Given the description of an element on the screen output the (x, y) to click on. 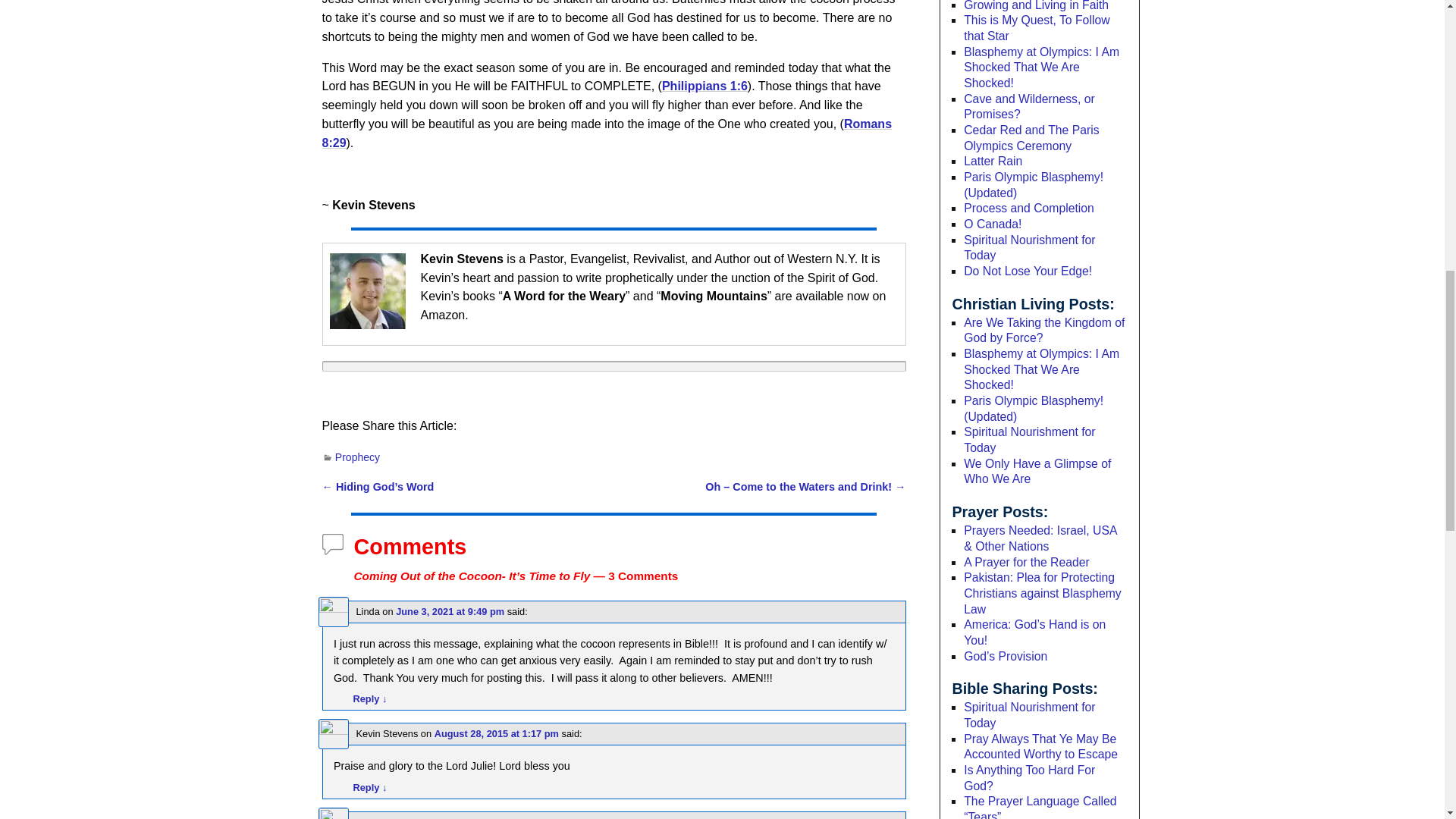
link to Kevin's Facebook page (366, 291)
